Given the description of an element on the screen output the (x, y) to click on. 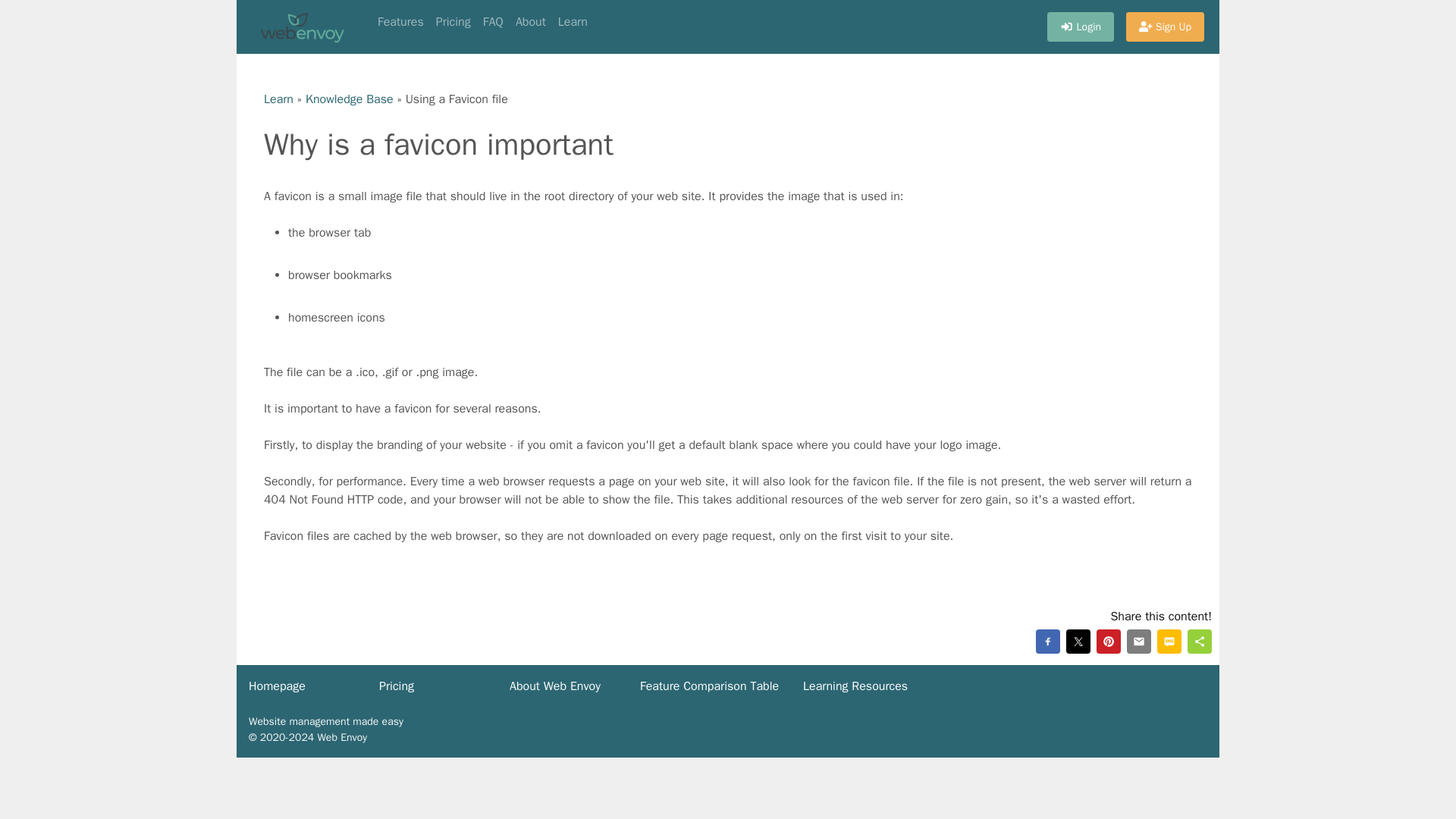
Sign Up (1164, 26)
Pricing (453, 21)
Knowledge Base (349, 99)
About Web Envoy (554, 685)
Homepage (276, 685)
Pricing (395, 685)
Learn (278, 99)
Learning Resources (855, 685)
About (530, 21)
Login (1079, 26)
Features (400, 21)
FAQ (493, 21)
Learn (572, 21)
Feature Comparison Table (709, 685)
